Given the description of an element on the screen output the (x, y) to click on. 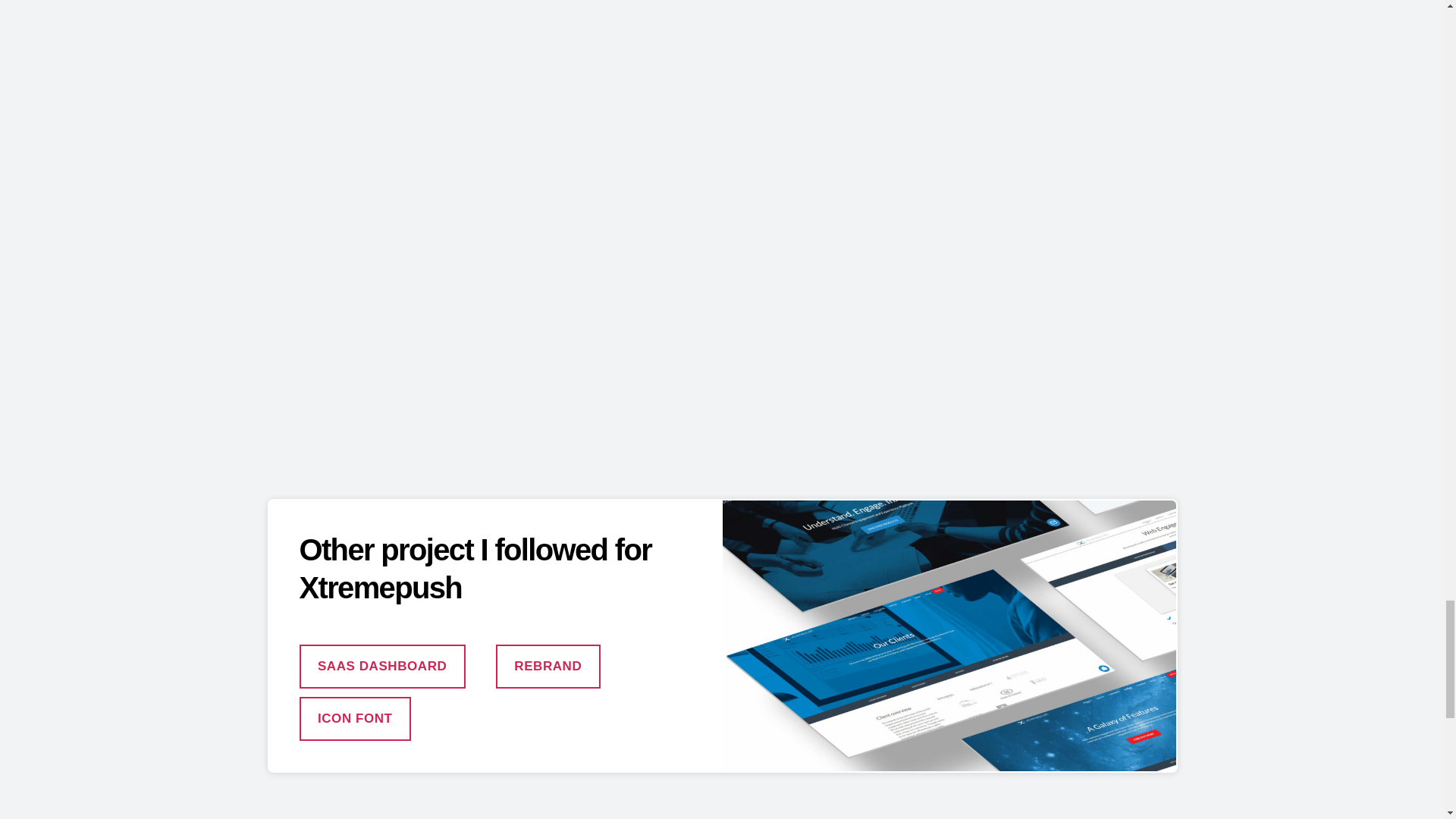
ICON FONT (354, 719)
SAAS DASHBOARD (381, 666)
REBRAND (547, 666)
